Given the description of an element on the screen output the (x, y) to click on. 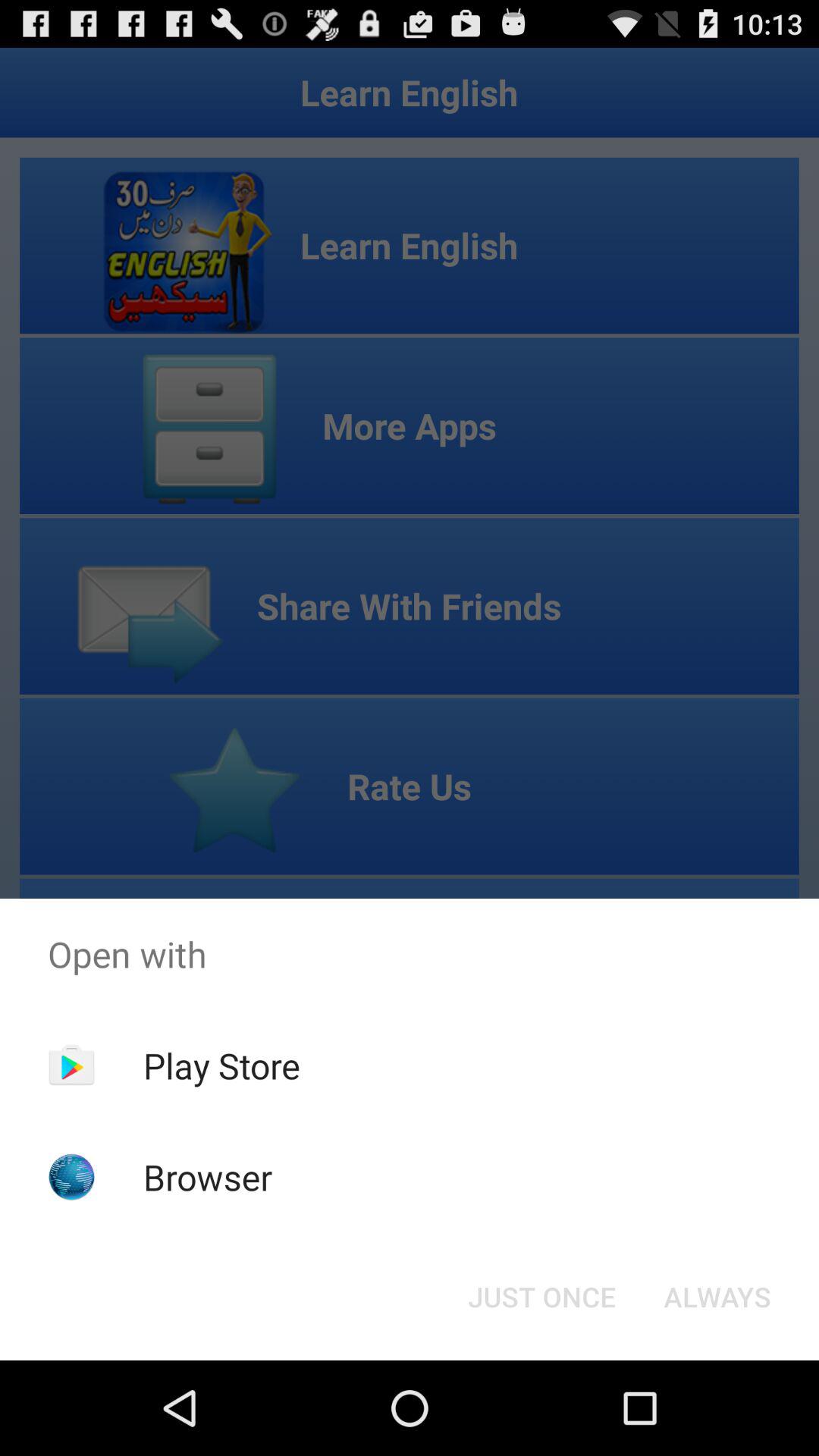
open the app above the browser item (221, 1065)
